Given the description of an element on the screen output the (x, y) to click on. 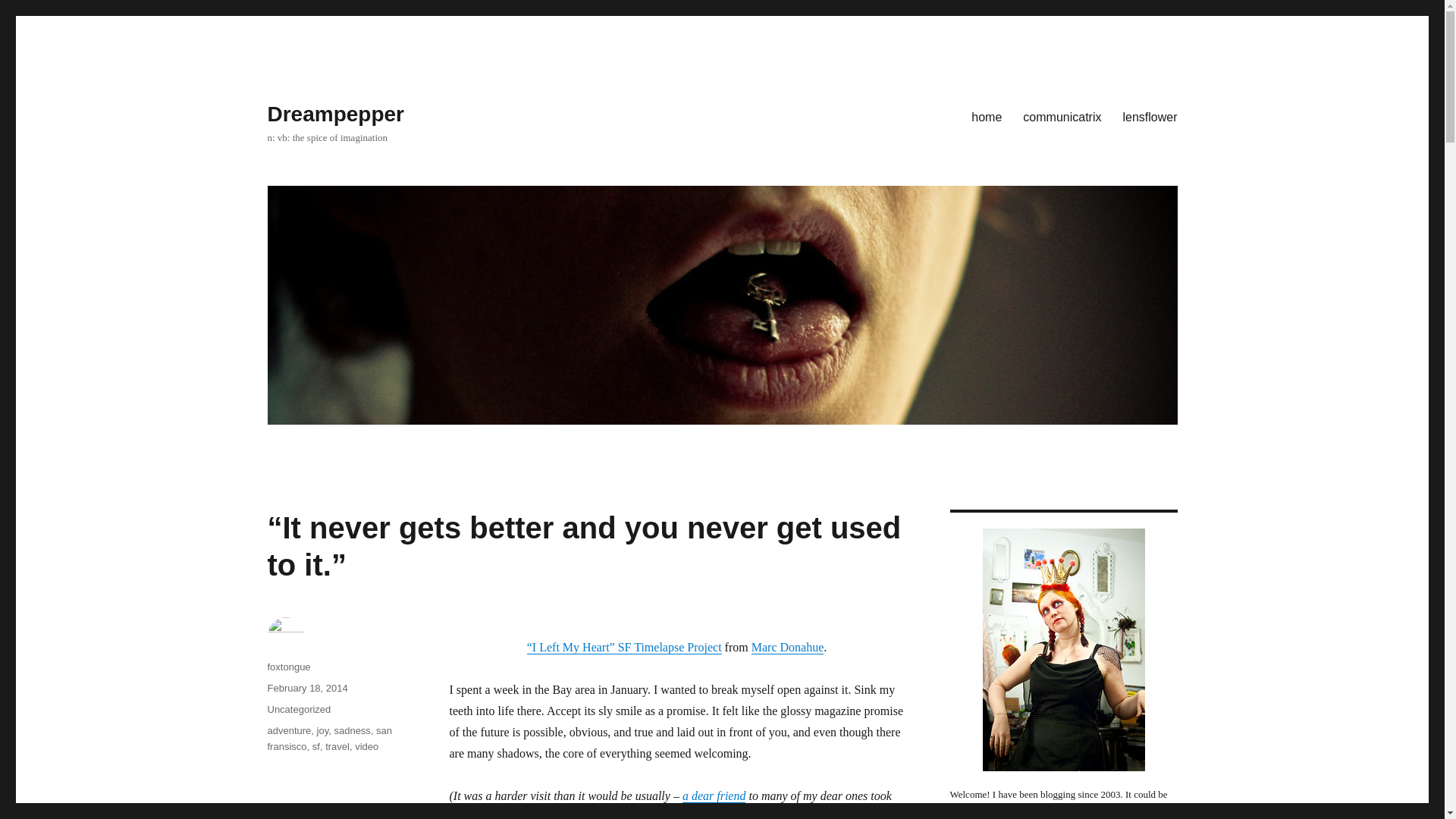
lensflower (1150, 116)
Uncategorized (298, 708)
February 18, 2014 (306, 687)
a dear friend (713, 795)
joy (323, 730)
adventure (288, 730)
san fransisco (328, 738)
communicatrix (1061, 116)
Dreampepper (335, 114)
video (366, 746)
sadness (351, 730)
Marc Donahue (787, 646)
travel (336, 746)
foxtongue (288, 666)
home (985, 116)
